Given the description of an element on the screen output the (x, y) to click on. 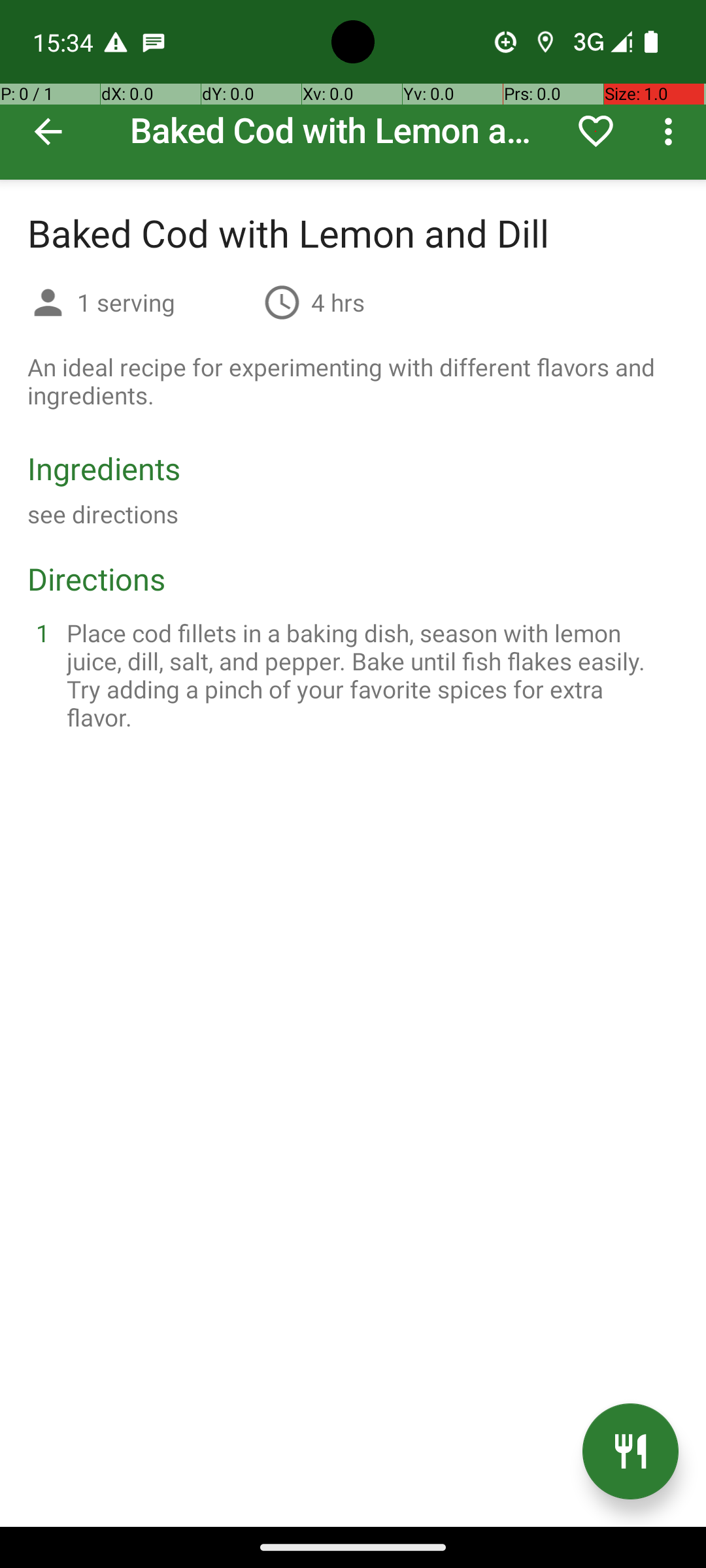
Baked Cod with Lemon and Dill Element type: android.widget.FrameLayout (353, 89)
1 serving Element type: android.widget.TextView (164, 301)
4 hrs Element type: android.widget.TextView (337, 301)
see directions Element type: android.widget.TextView (102, 513)
Place cod fillets in a baking dish, season with lemon juice, dill, salt, and pepper. Bake until fish flakes easily. Try adding a pinch of your favorite spices for extra flavor. Element type: android.widget.TextView (368, 674)
